Given the description of an element on the screen output the (x, y) to click on. 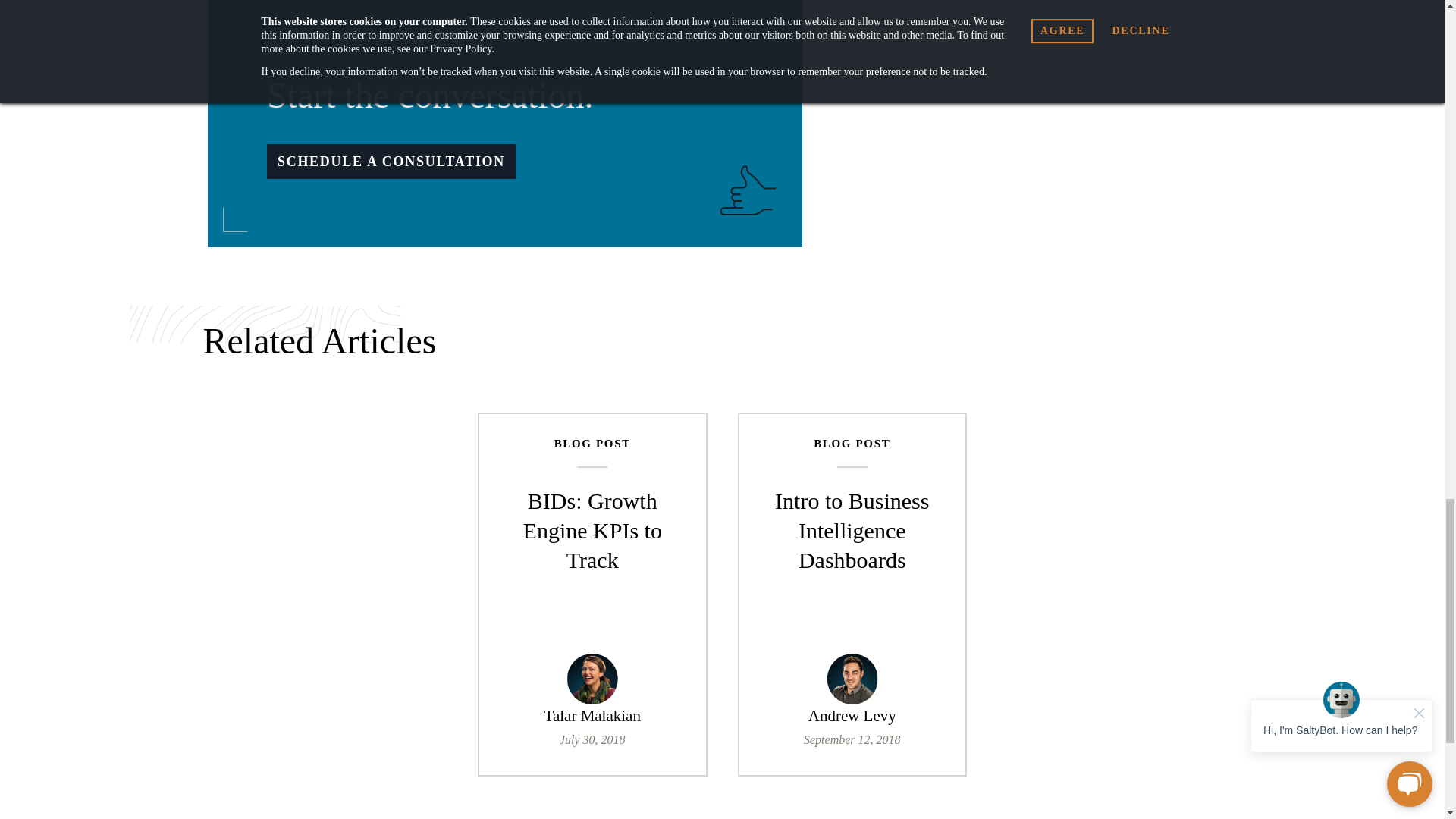
SCHEDULE A CONSULTATION (390, 161)
Schedule a Consultation (390, 161)
